Given the description of an element on the screen output the (x, y) to click on. 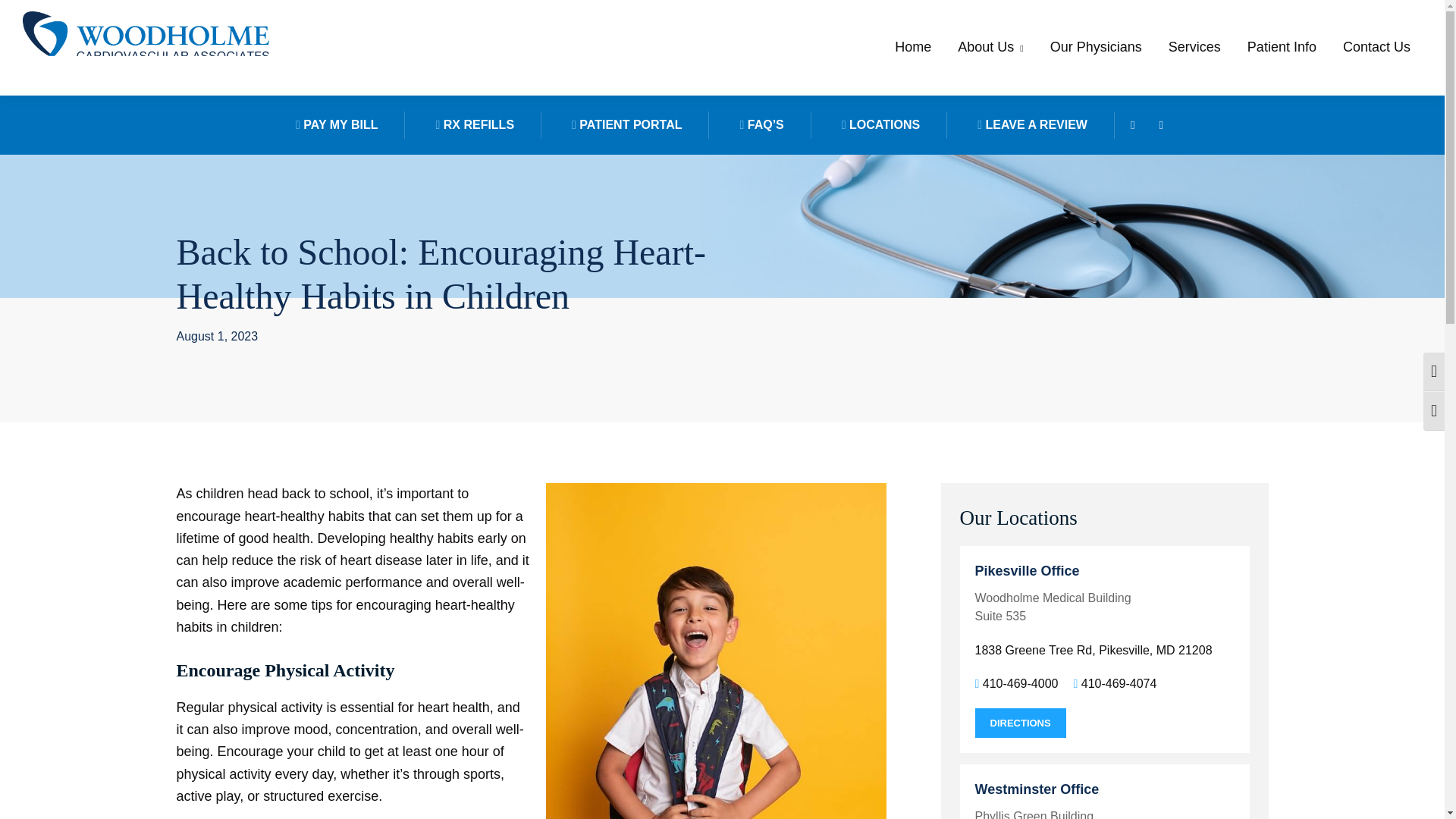
PAY MY BILL (336, 124)
DIRECTIONS (1020, 723)
Our Physicians (1096, 46)
PATIENT PORTAL (626, 124)
LEAVE A REVIEW (1032, 124)
Contact Us (1377, 46)
Services (1194, 46)
LOCATIONS (881, 124)
Home (912, 46)
